Given the description of an element on the screen output the (x, y) to click on. 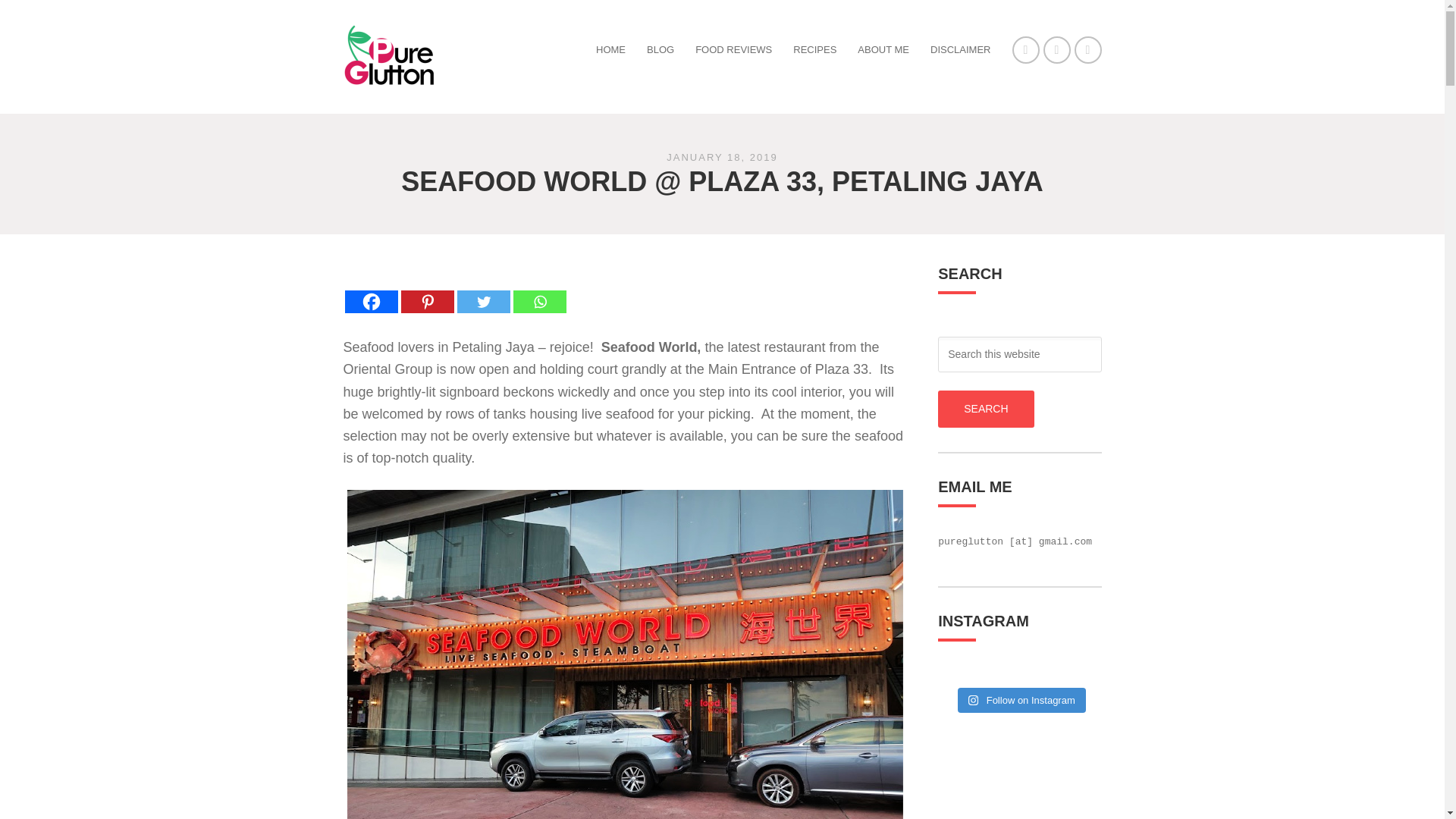
Facebook (370, 289)
FOOD REVIEWS (733, 49)
Search (985, 408)
RECIPES (814, 49)
ABOUT ME (882, 49)
HOME (610, 49)
Twitter (483, 289)
BLOG (660, 49)
DISCLAIMER (960, 49)
Pinterest (426, 289)
Whatsapp (539, 289)
Search (985, 408)
